Given the description of an element on the screen output the (x, y) to click on. 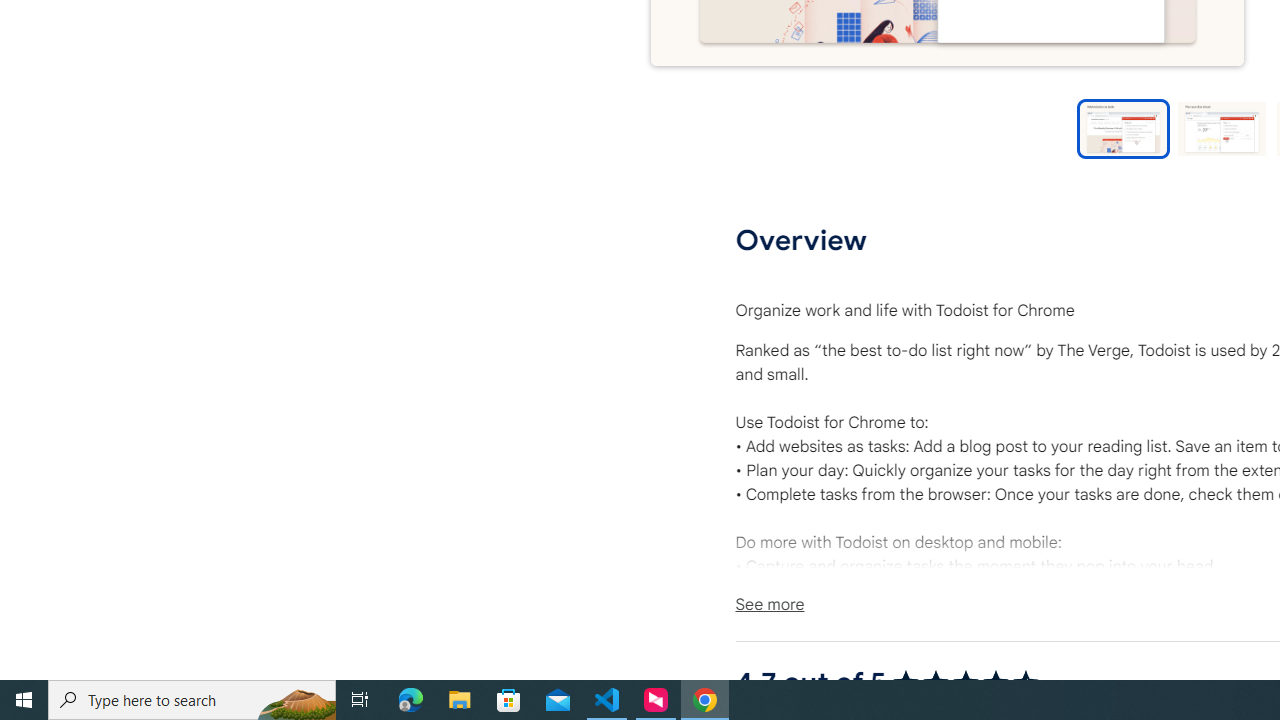
4.7 out of 5 stars (964, 682)
Preview slide 2 (1221, 128)
Preview slide 1 (1123, 128)
